Given the description of an element on the screen output the (x, y) to click on. 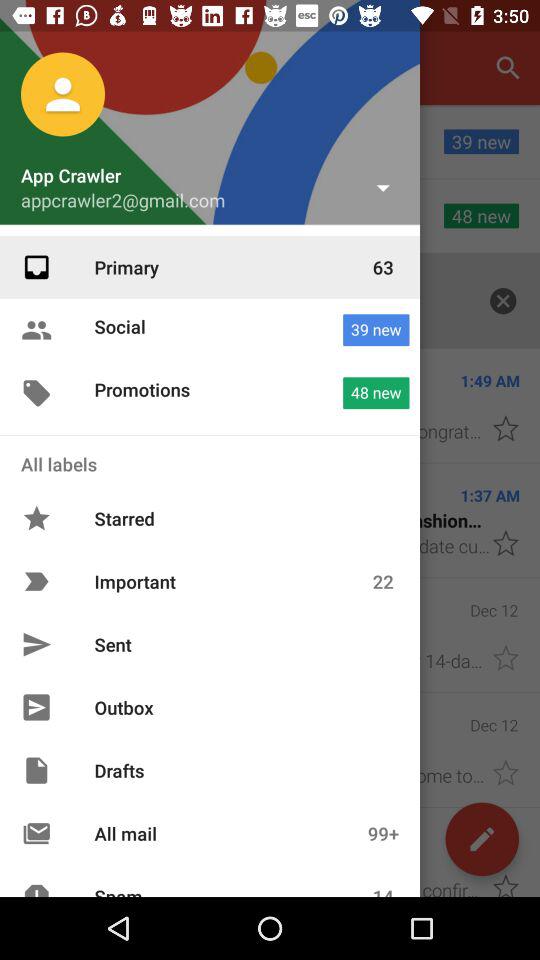
click on icon which is left side of important (36, 581)
click on the profile photo (62, 94)
select the cross symbol (503, 301)
